Given the description of an element on the screen output the (x, y) to click on. 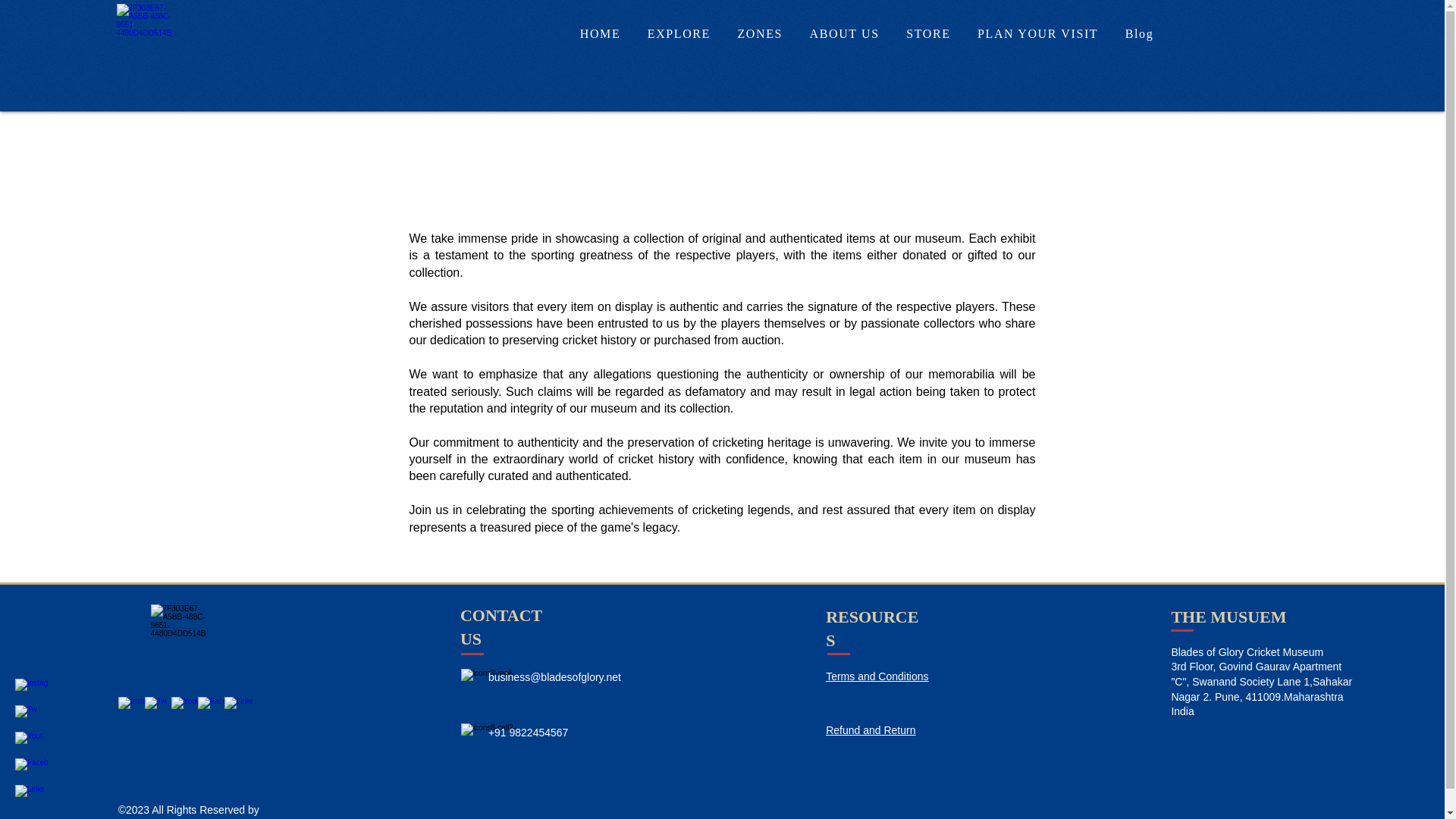
PLAN YOUR VISIT (1037, 33)
STORE (927, 33)
Refund and Return (870, 729)
HOME (599, 33)
Terms and Conditions (876, 676)
Blog (1139, 33)
